Given the description of an element on the screen output the (x, y) to click on. 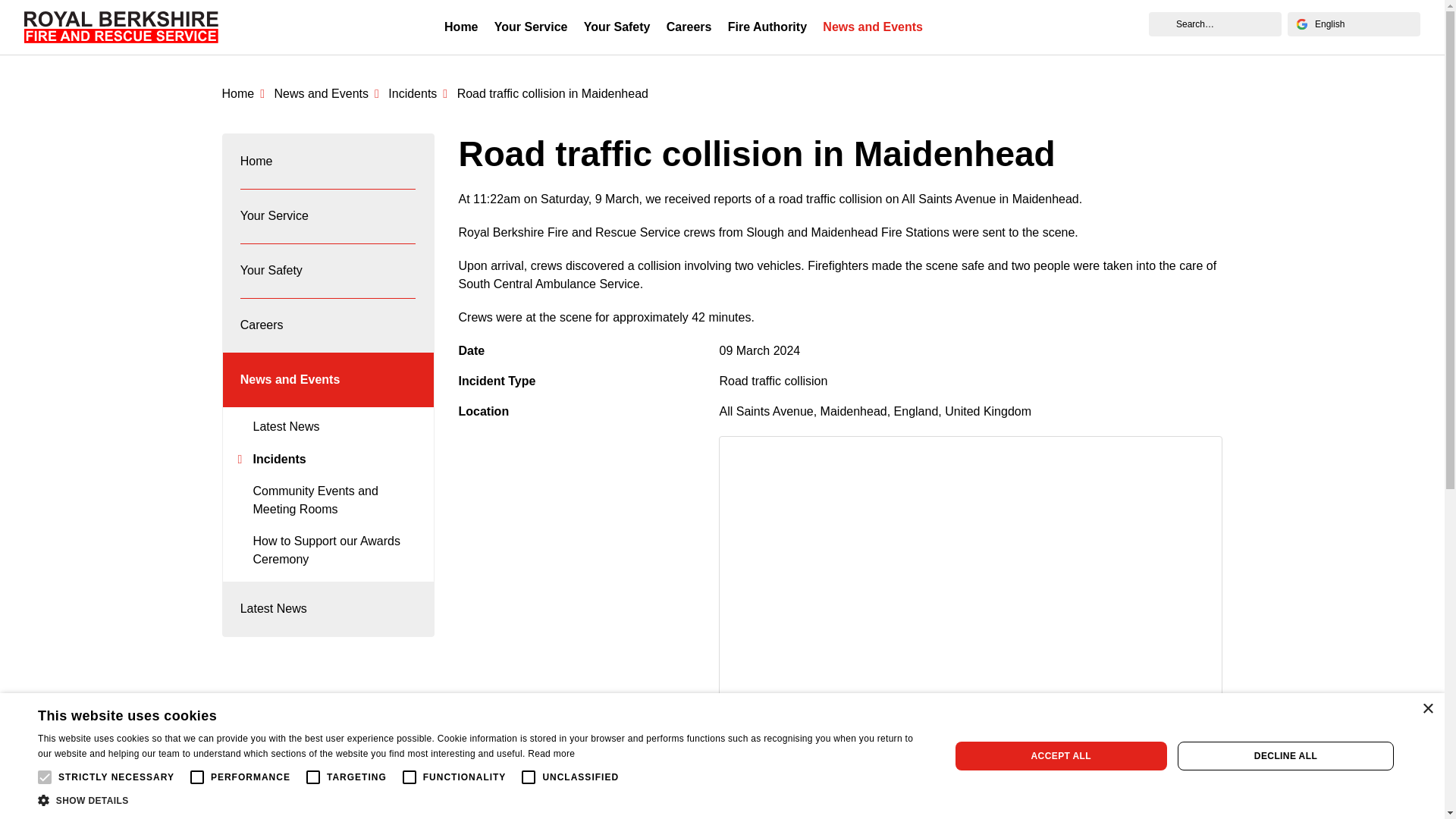
Home (327, 161)
Your Safety (616, 27)
Your Service (327, 216)
Careers (688, 27)
News and Events (873, 27)
Search (1162, 24)
News and Events (328, 92)
Fire Authority (767, 27)
Home (460, 27)
Home (245, 92)
Your Service (530, 27)
Incidents (420, 92)
